Given the description of an element on the screen output the (x, y) to click on. 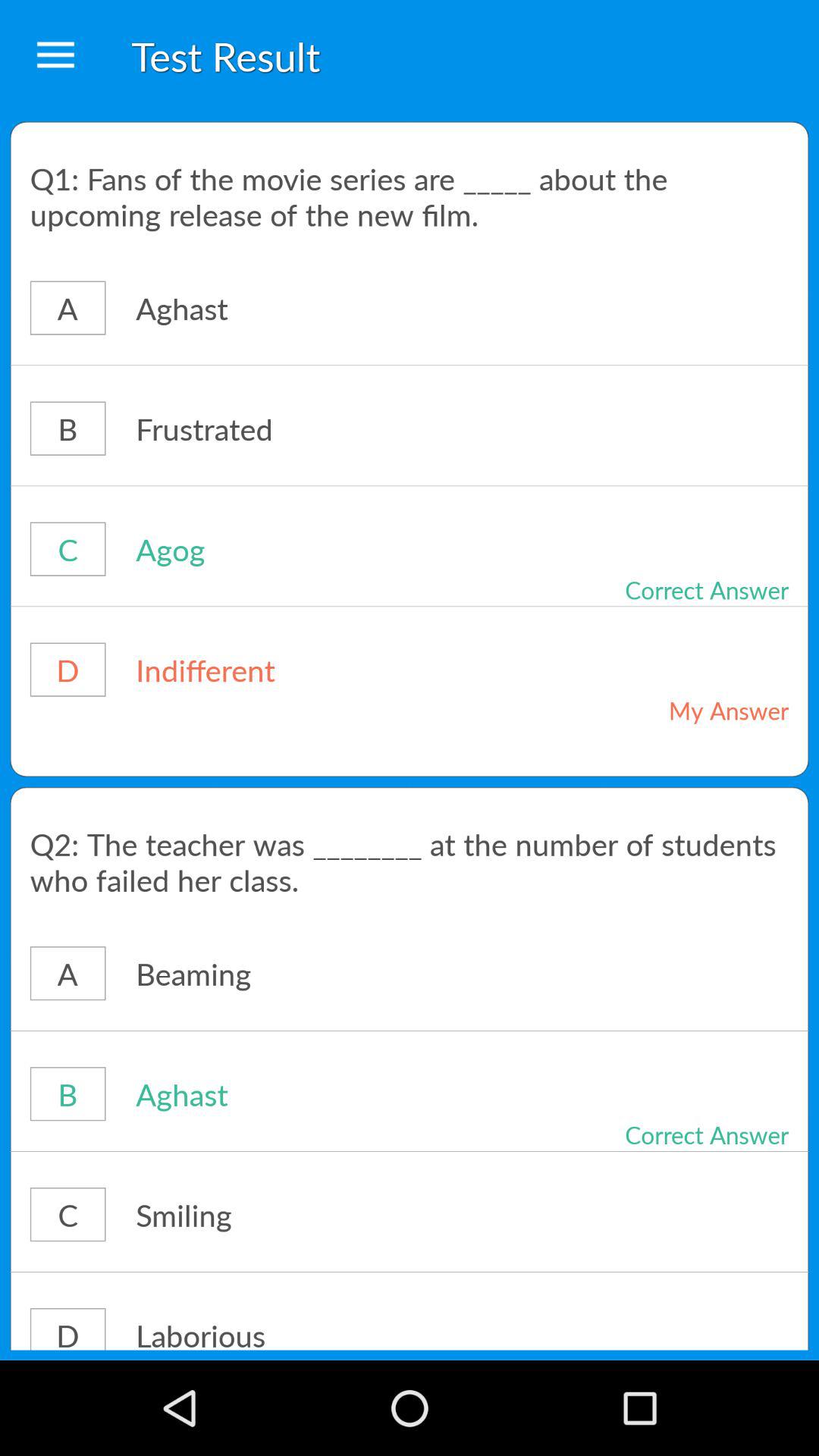
press the icon below the q2 the teacher (313, 973)
